Given the description of an element on the screen output the (x, y) to click on. 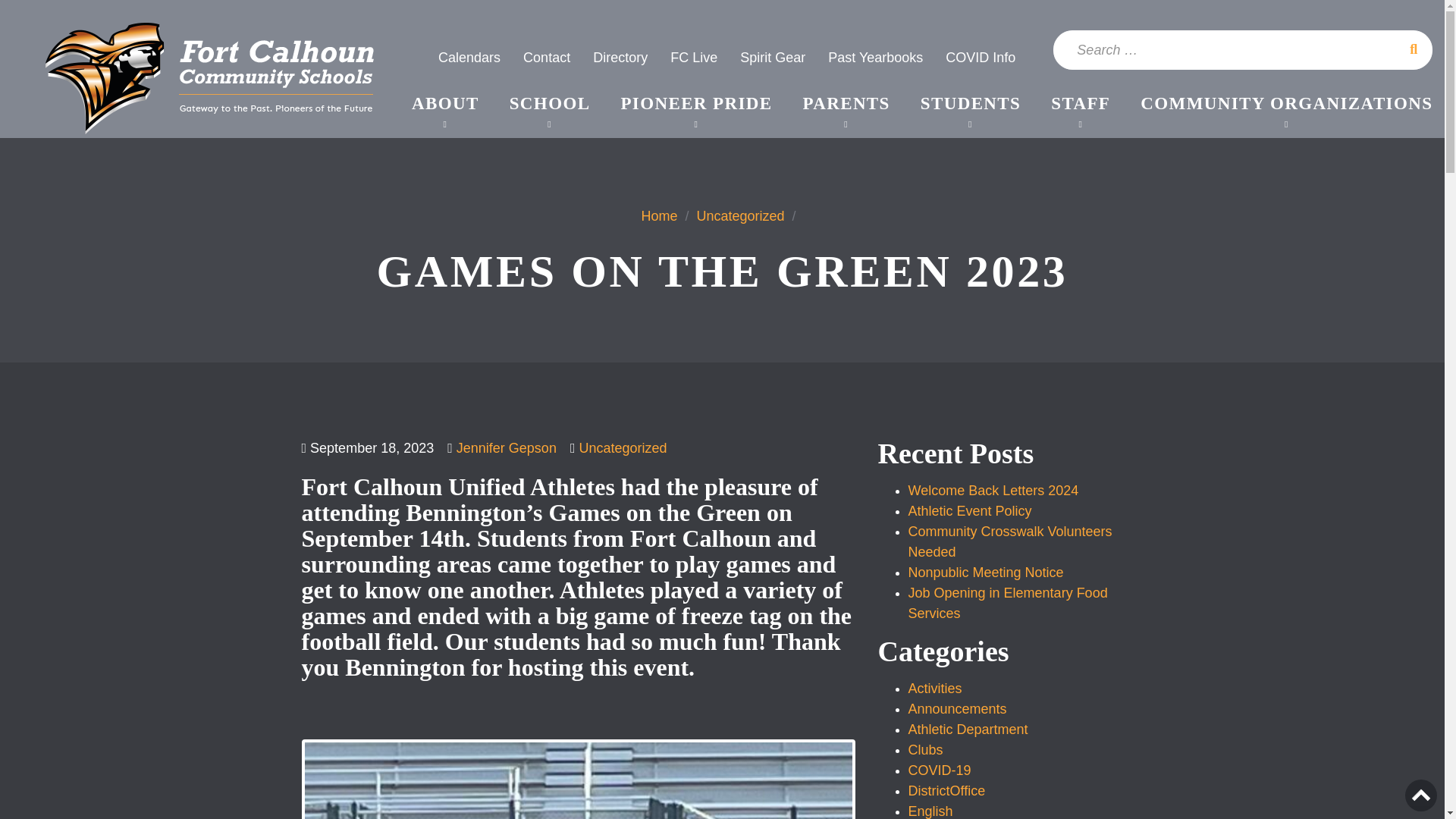
FC Live (693, 57)
Calendars (469, 57)
COVID Info (979, 57)
Past Yearbooks (875, 57)
SCHOOL (550, 103)
PIONEER PRIDE (695, 103)
Search (1413, 48)
Uncategorized (739, 215)
Contact (546, 57)
Home (658, 215)
